Given the description of an element on the screen output the (x, y) to click on. 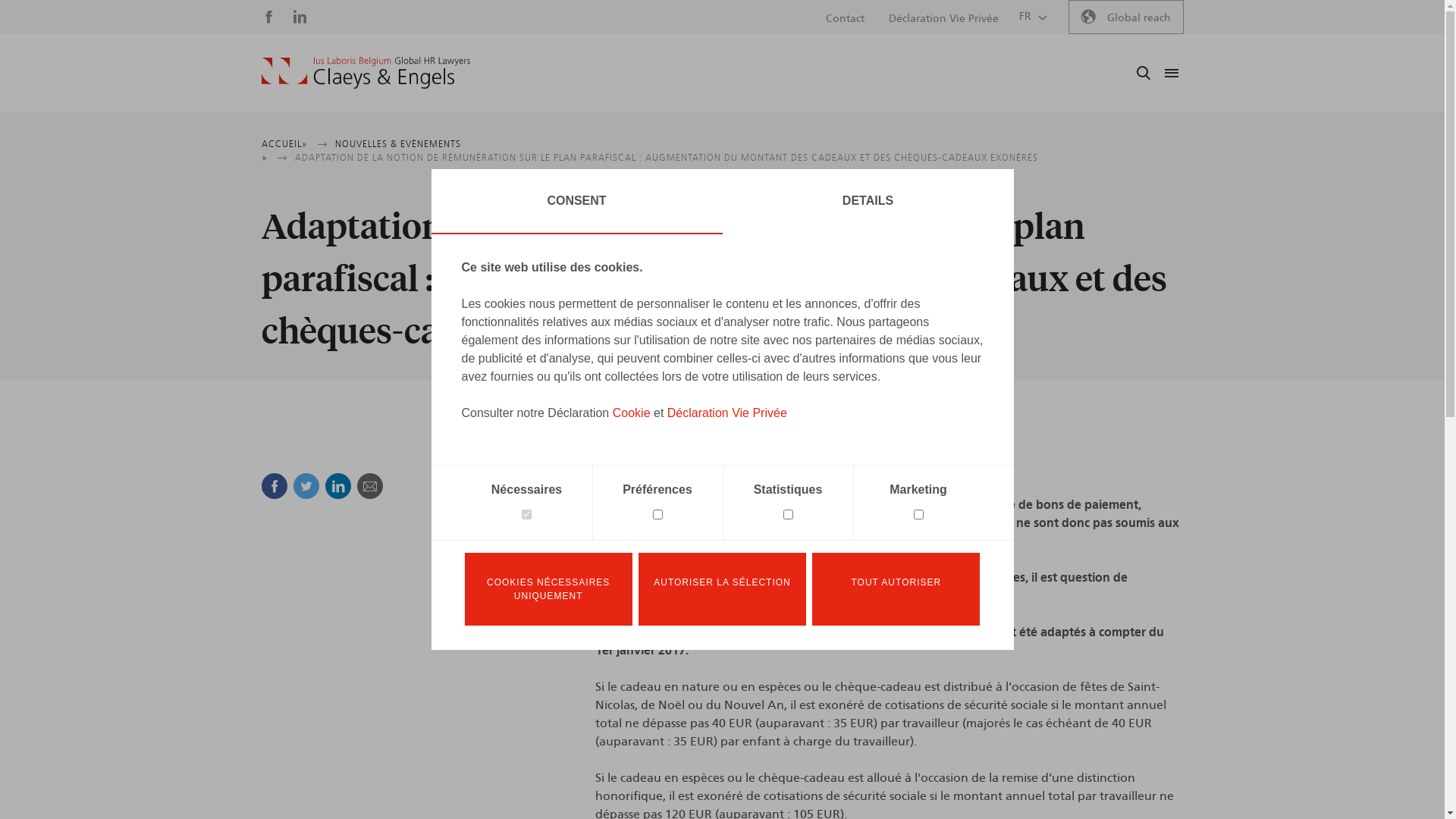
Linkedin Element type: text (337, 485)
ACCUEIL Element type: text (280, 143)
Contact Element type: text (844, 18)
Cookie Element type: text (631, 412)
Twitter Element type: text (305, 485)
Accueil Element type: hover (364, 72)
TOUT AUTORISER Element type: text (895, 588)
Facebook Element type: text (273, 485)
Global reach Element type: text (1125, 17)
Courriel Element type: text (369, 485)
DETAILS Element type: text (867, 201)
CONSENT Element type: text (575, 201)
